Given the description of an element on the screen output the (x, y) to click on. 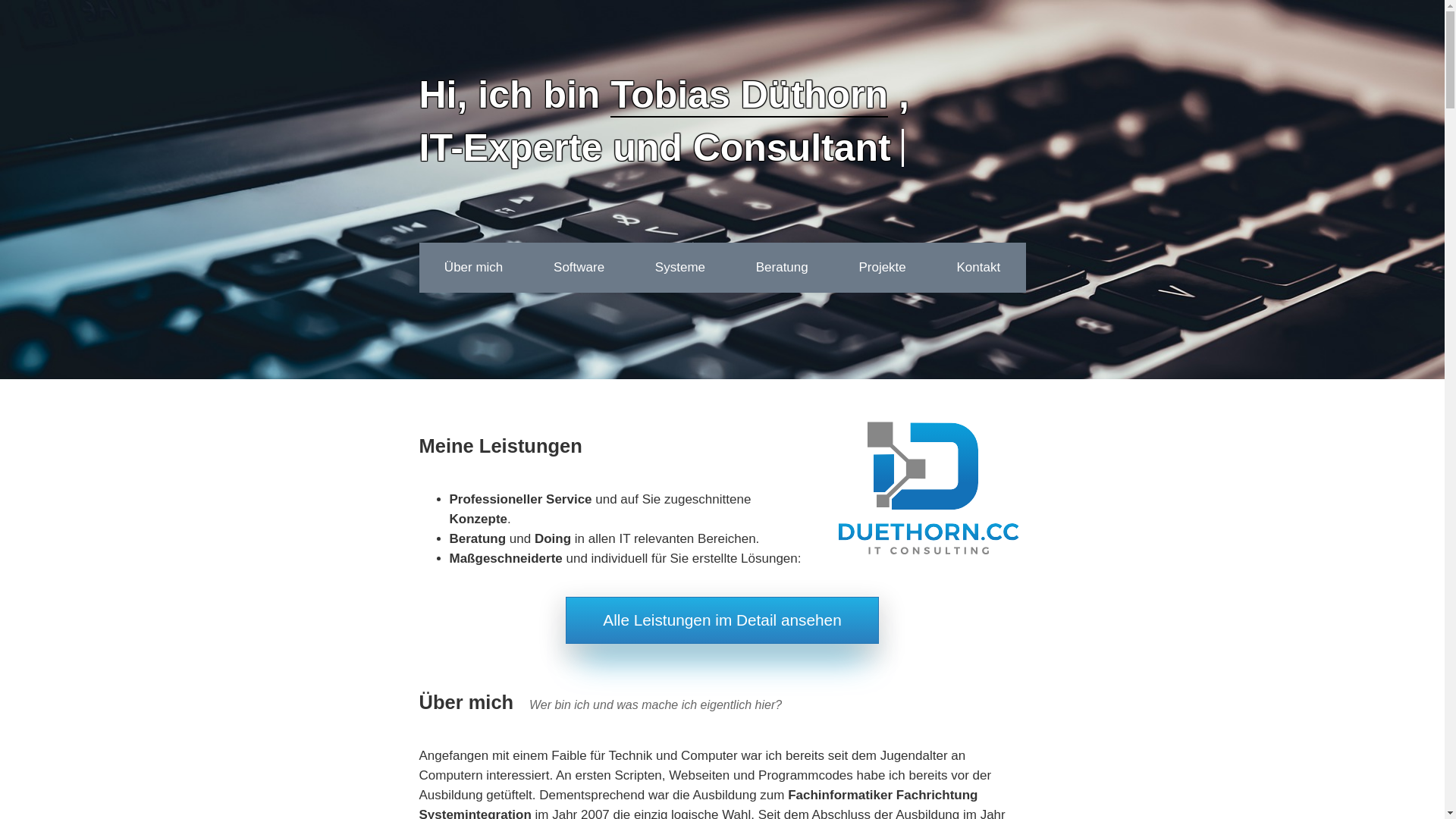
Systeme Element type: text (679, 267)
Beratung Element type: text (781, 267)
Projekte Element type: text (882, 267)
Kontakt Element type: text (978, 267)
Software Element type: text (579, 267)
Alle Leistungen im Detail ansehen Element type: text (721, 619)
